Given the description of an element on the screen output the (x, y) to click on. 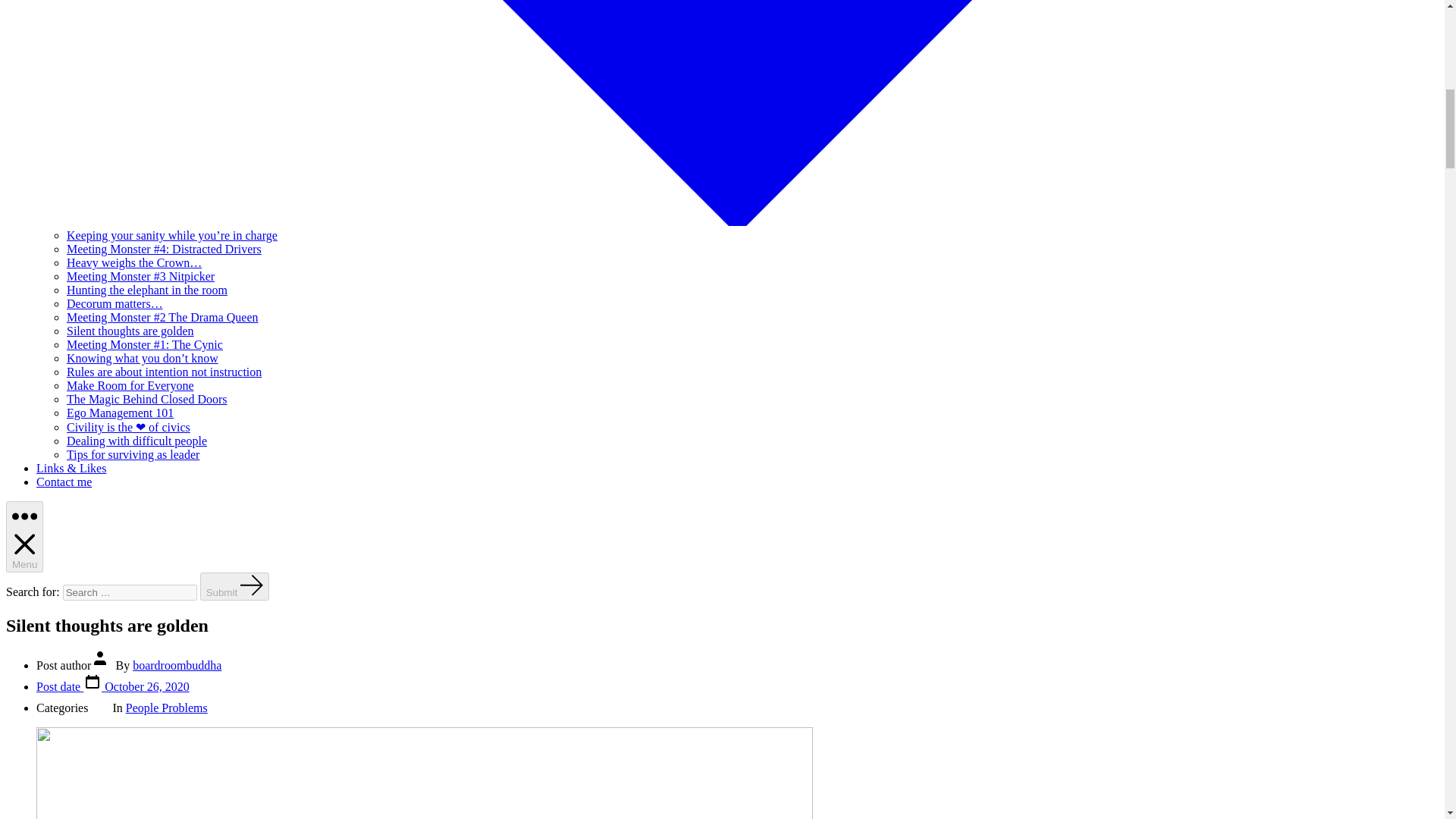
Tips for surviving as leader (132, 454)
People Problems (166, 707)
Dealing with difficult people (136, 440)
Post date October 26, 2020 (112, 686)
Hunting the elephant in the room (146, 289)
Contact me (63, 481)
The Magic Behind Closed Doors (146, 399)
Rules are about intention not instruction (164, 371)
Submit (234, 586)
boardroombuddha (176, 665)
Ego Management 101 (119, 412)
Silent thoughts are golden (129, 330)
Make Room for Everyone (129, 385)
